Given the description of an element on the screen output the (x, y) to click on. 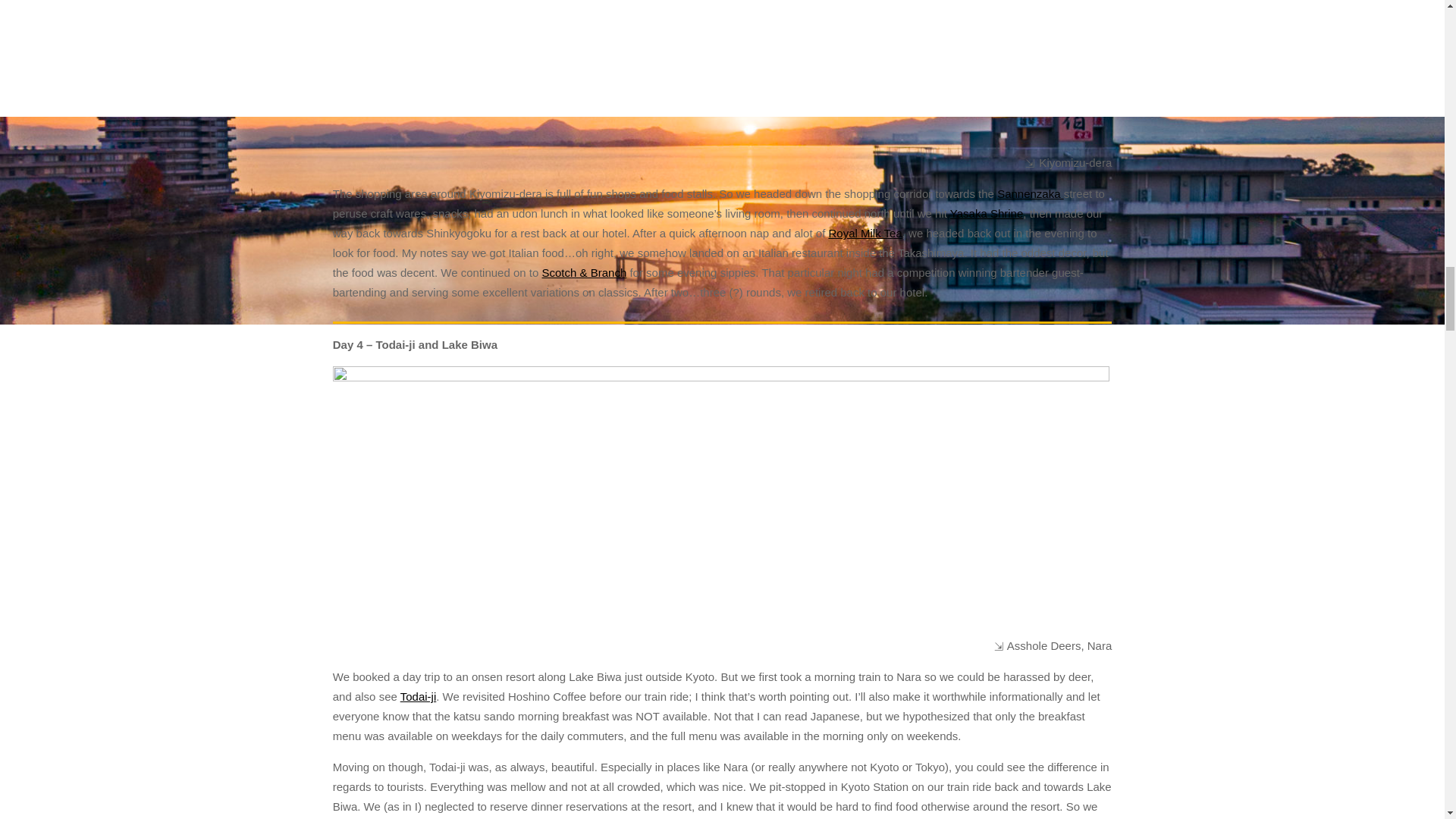
Yasaka Shrine (986, 213)
Sannenzaka (1030, 193)
Todai-ji (418, 696)
Royal Milk Tea (864, 232)
